Given the description of an element on the screen output the (x, y) to click on. 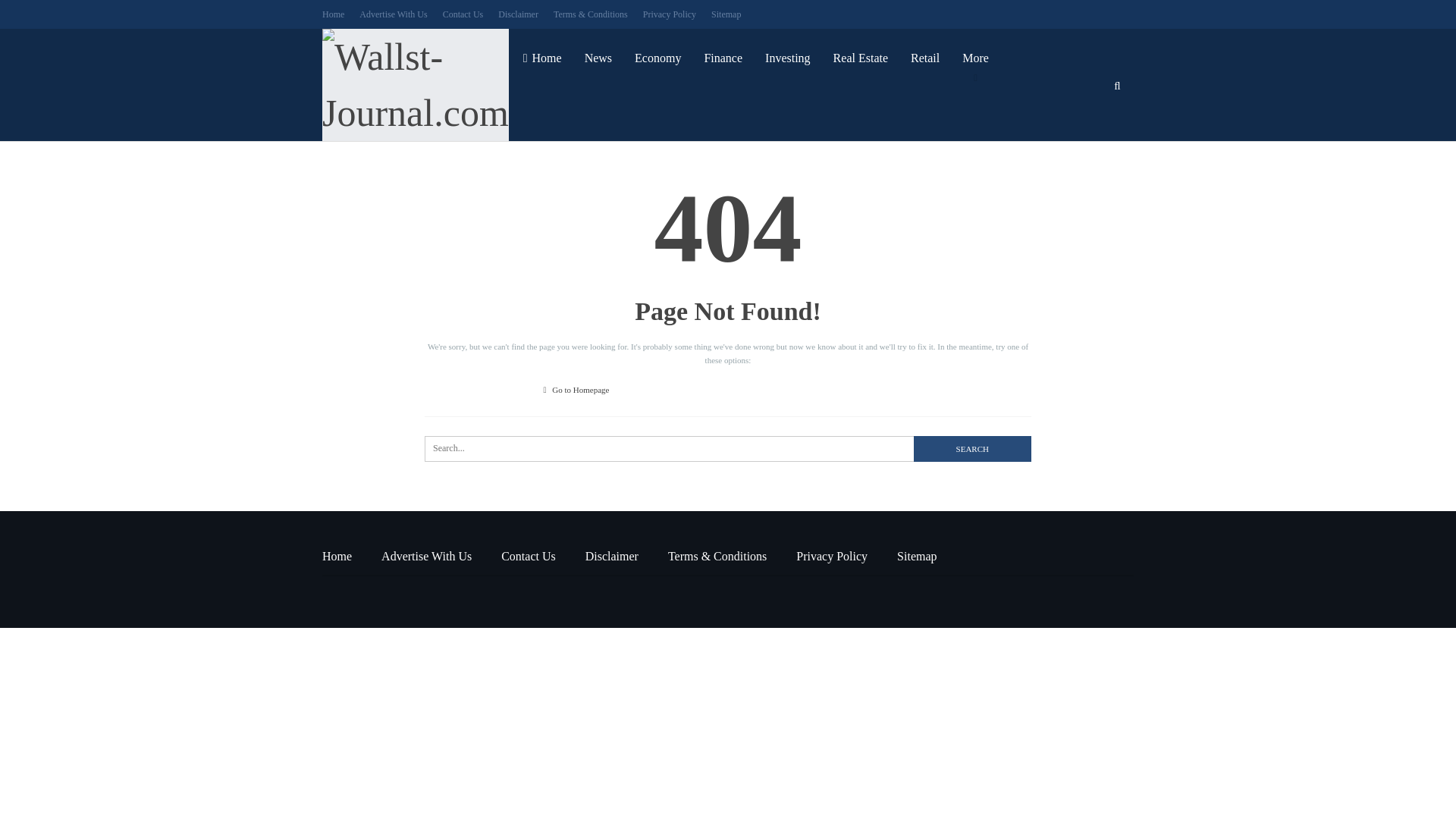
Disclaimer (517, 14)
Disclaimer (612, 555)
Sitemap (726, 14)
Privacy Policy (831, 555)
Home (542, 57)
Investing (788, 57)
Search (972, 448)
Economy (658, 57)
Finance (723, 57)
Advertise With Us (426, 555)
